Given the description of an element on the screen output the (x, y) to click on. 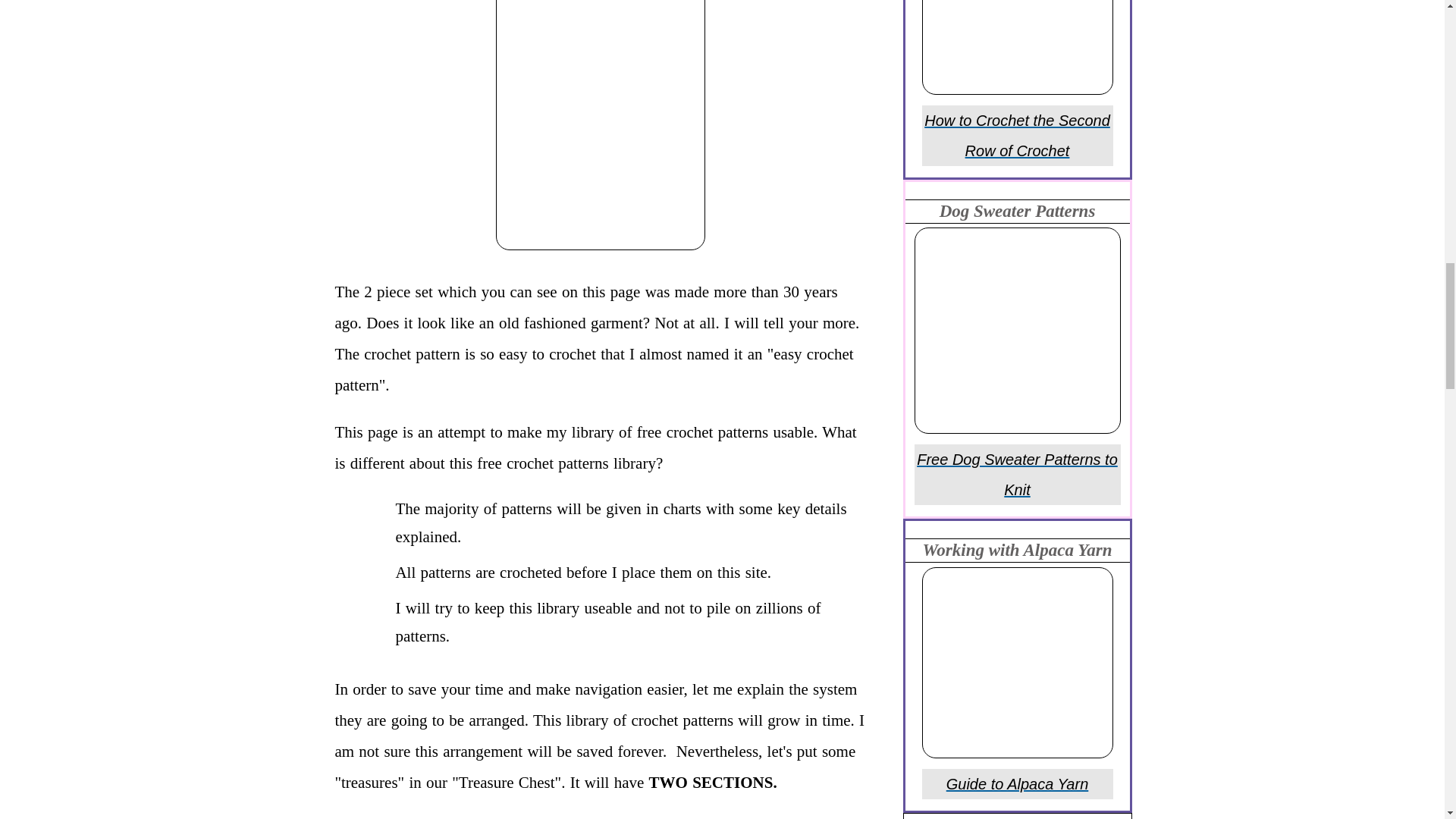
Thumbnail link to free dog sweater patterns page (1017, 330)
How to Crochet the Second Row:  Thumb nail image with link (1017, 47)
Thumbnail link to comprehensive guide to alpaca yarn (1017, 662)
